Given the description of an element on the screen output the (x, y) to click on. 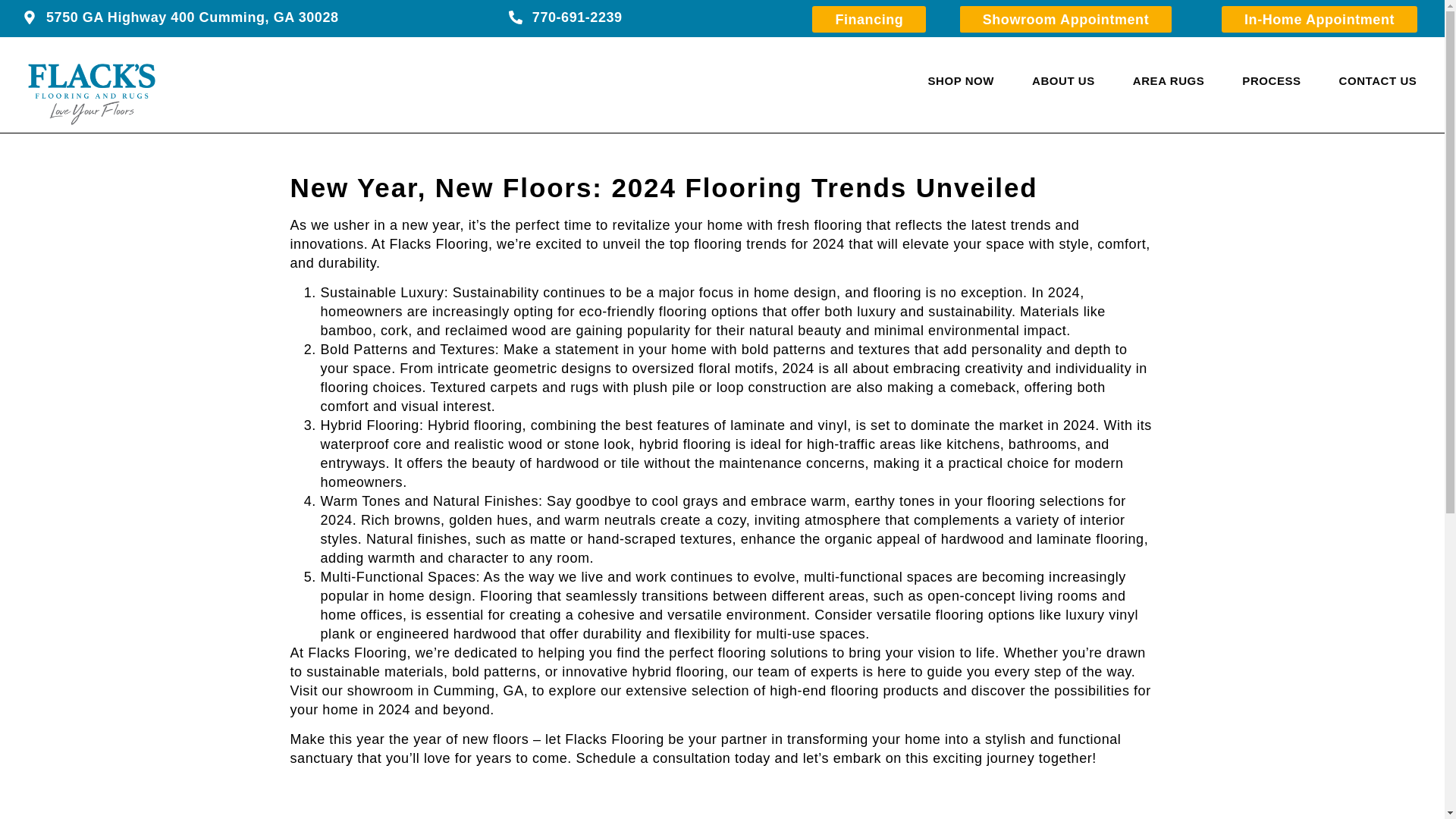
In-Home Appointment (1318, 18)
SHOP NOW (960, 80)
Financing (869, 18)
770-691-2239 (565, 18)
5750 GA Highway 400 Cumming, GA 30028 (180, 18)
ABOUT US (1063, 80)
Showroom Appointment (1065, 18)
AREA RUGS (1168, 80)
PROCESS (1270, 80)
CONTACT US (1377, 80)
